Given the description of an element on the screen output the (x, y) to click on. 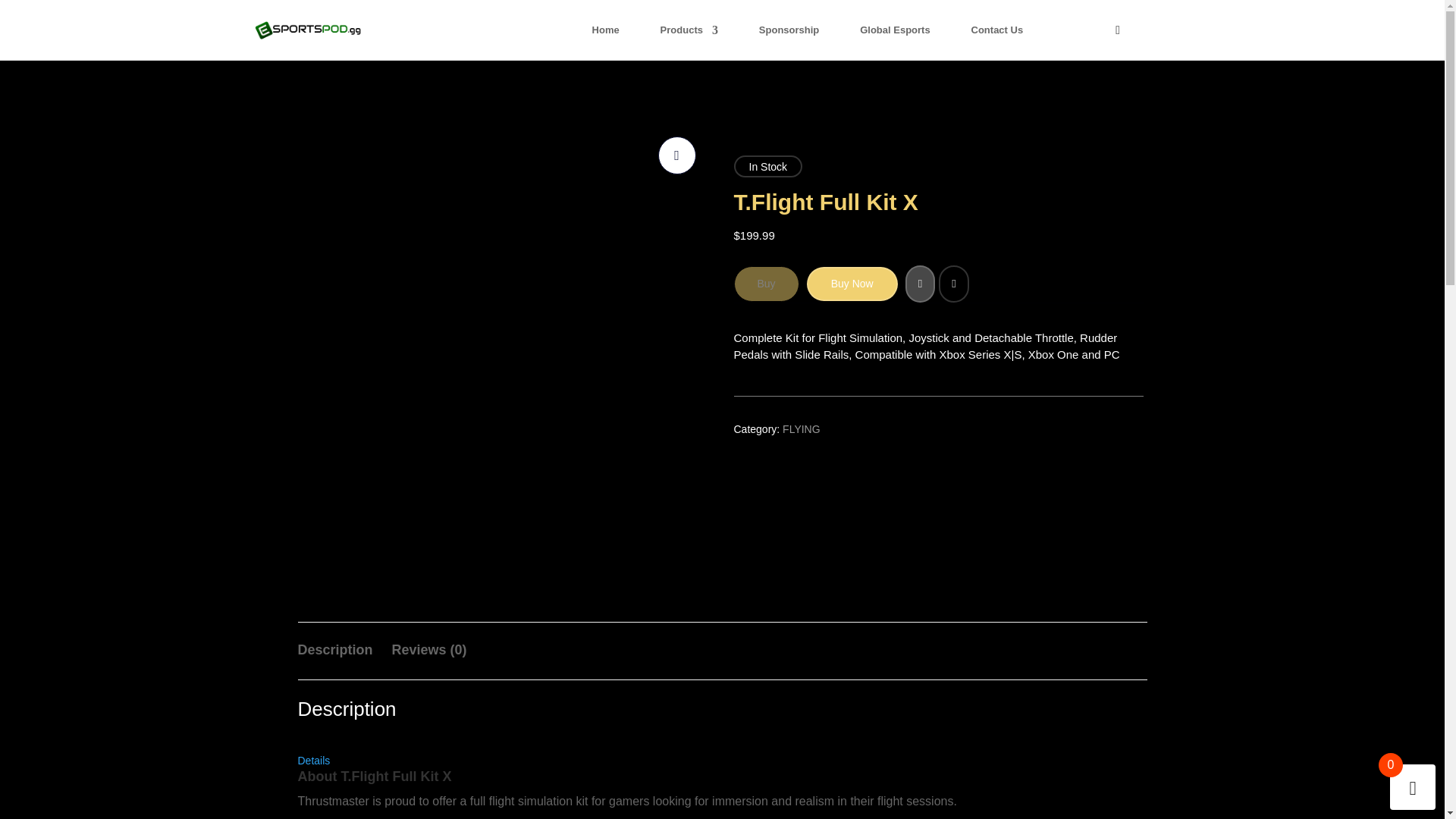
Global Esports (895, 42)
Sponsorship (788, 42)
FLYING (802, 428)
Details (313, 769)
Description (334, 649)
Buy Now (852, 283)
Products (689, 42)
Buy (766, 284)
Product Thumbnail (676, 155)
Contact Us (997, 42)
